Given the description of an element on the screen output the (x, y) to click on. 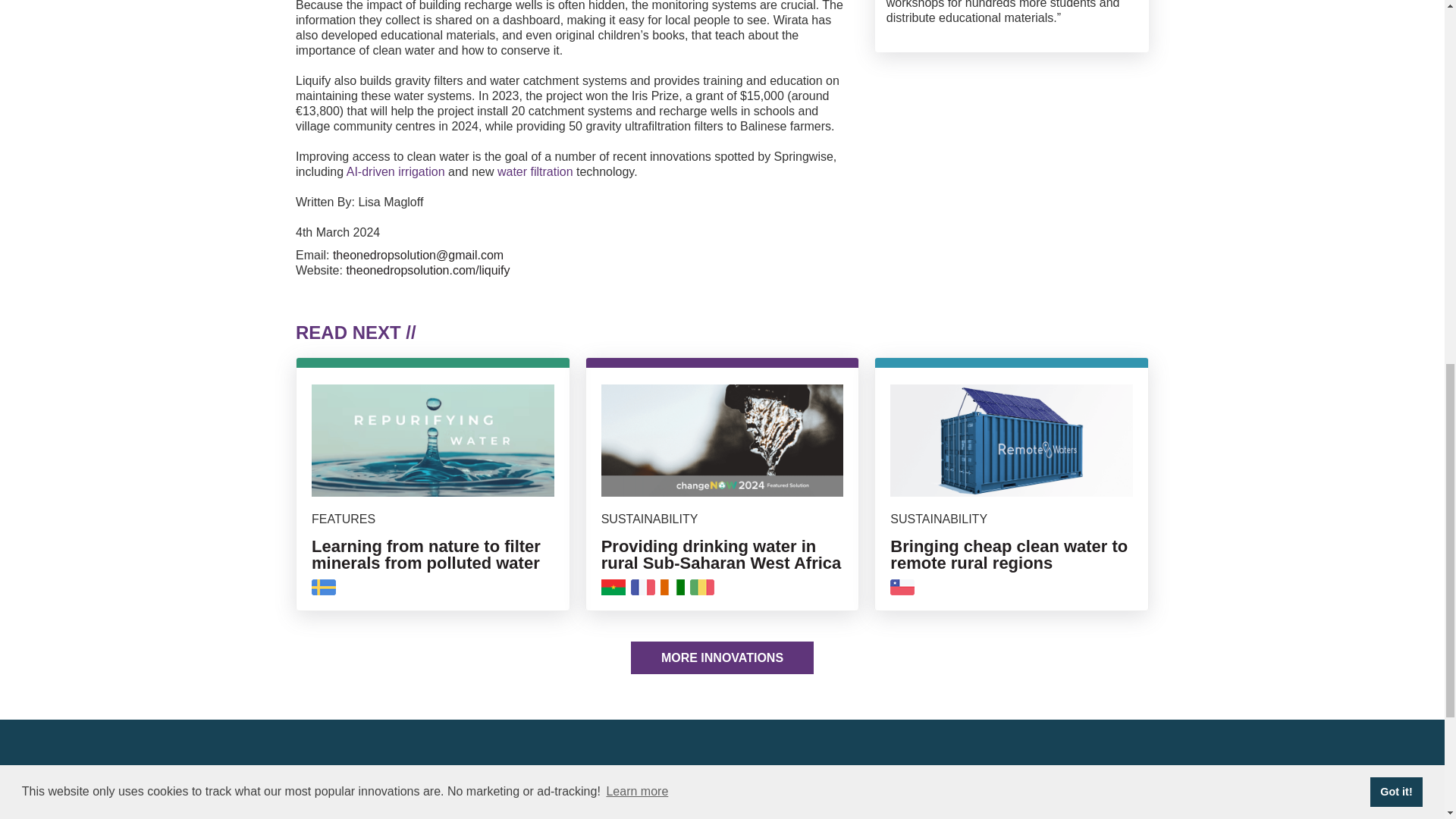
MORE INNOVATIONS (721, 657)
Submit an Innovation (856, 811)
Innovation Library (856, 793)
water filtration (535, 171)
AI-driven irrigation (395, 171)
About Springwise (856, 773)
